Given the description of an element on the screen output the (x, y) to click on. 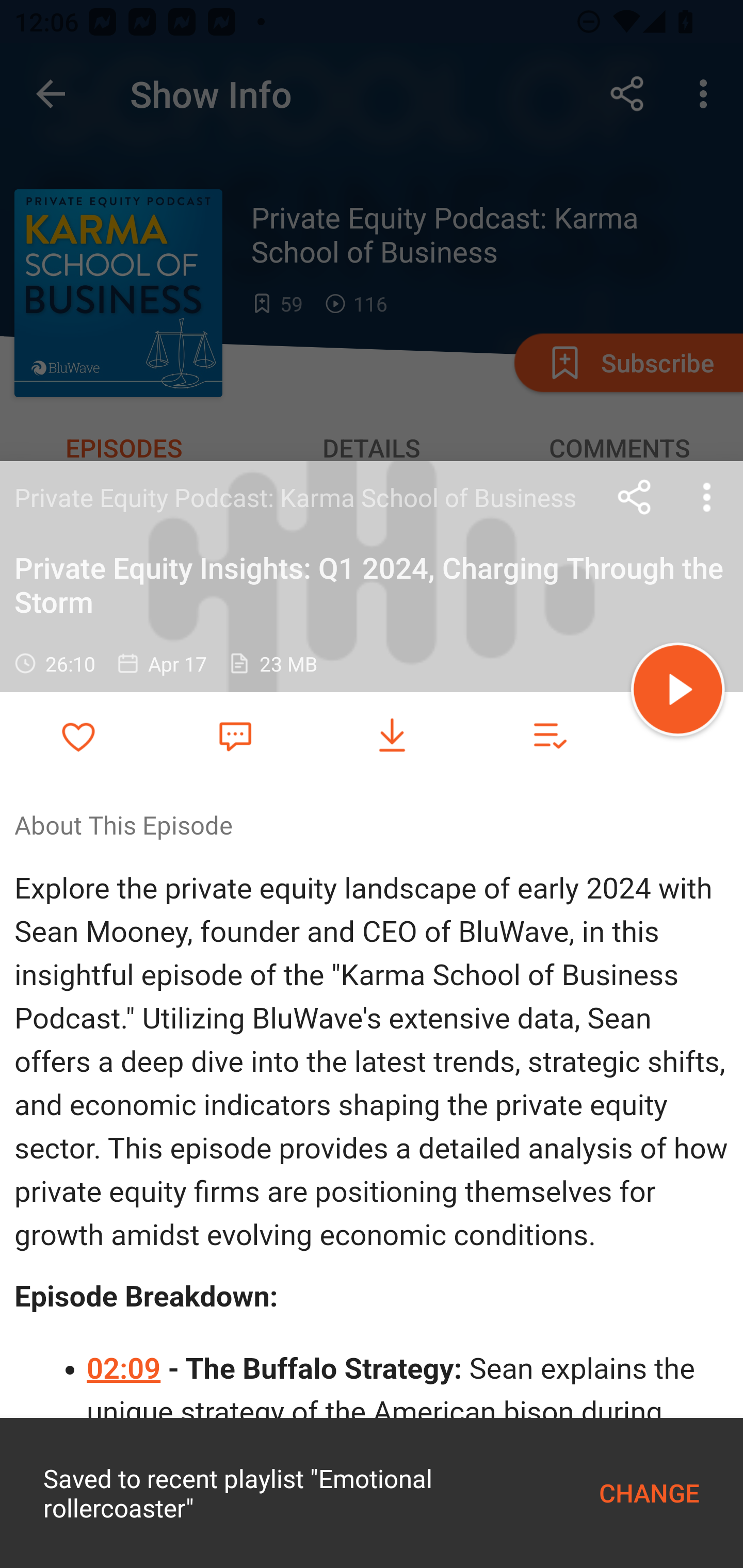
Share (634, 496)
more options (706, 496)
Play (677, 692)
Favorite (234, 735)
Add to Favorites (78, 735)
Download (391, 735)
Add to playlist (548, 735)
02:09 (124, 1369)
CHANGE (648, 1492)
